Given the description of an element on the screen output the (x, y) to click on. 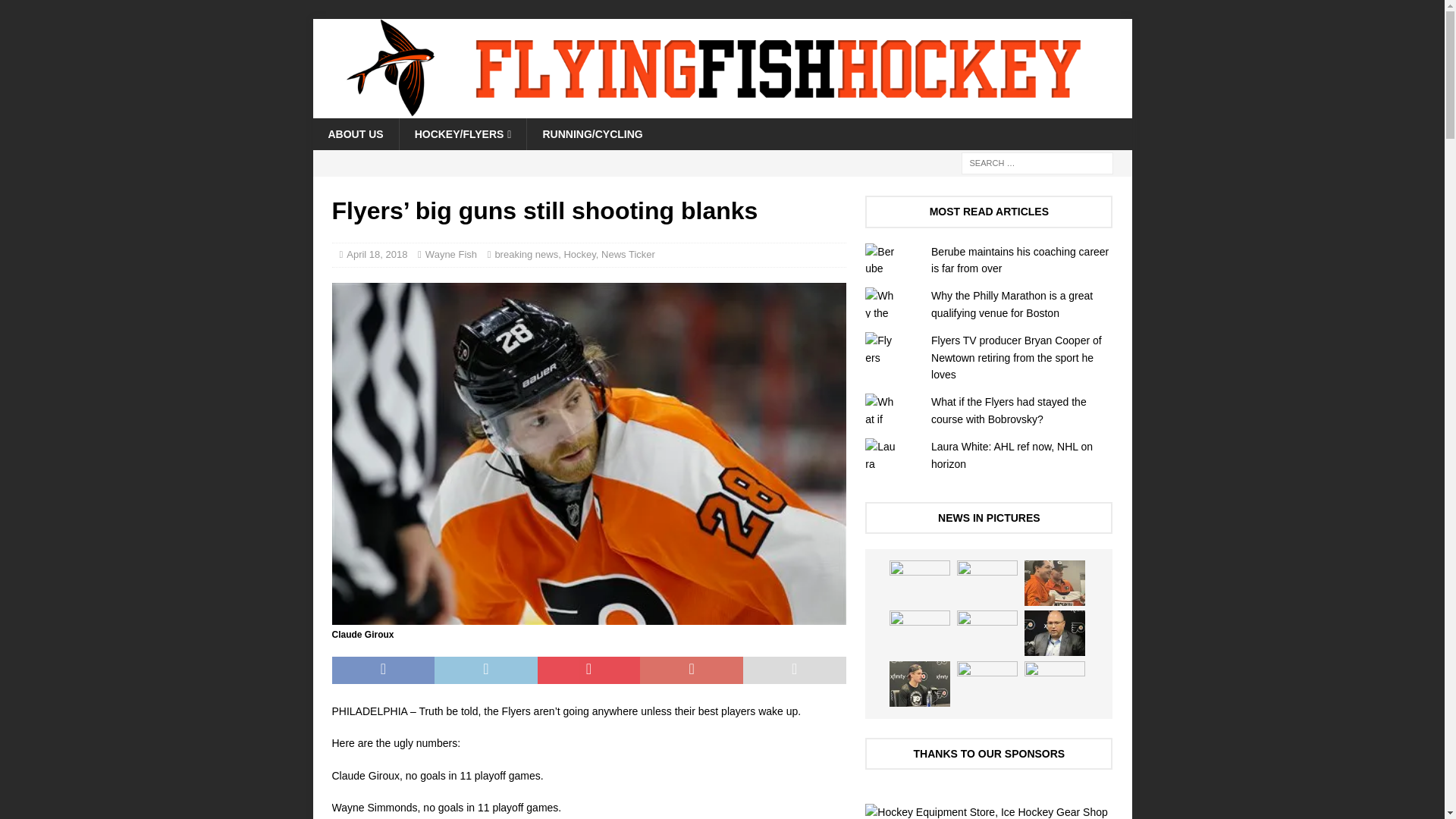
FlyingFishHockey (722, 110)
Berube maintains his coaching career is far from over (1019, 259)
Search (56, 11)
Berube maintains his coaching career is far from over (1019, 259)
Wayne Fish (451, 254)
ABOUT US (355, 133)
Hockey (579, 254)
breaking news (526, 254)
